Given the description of an element on the screen output the (x, y) to click on. 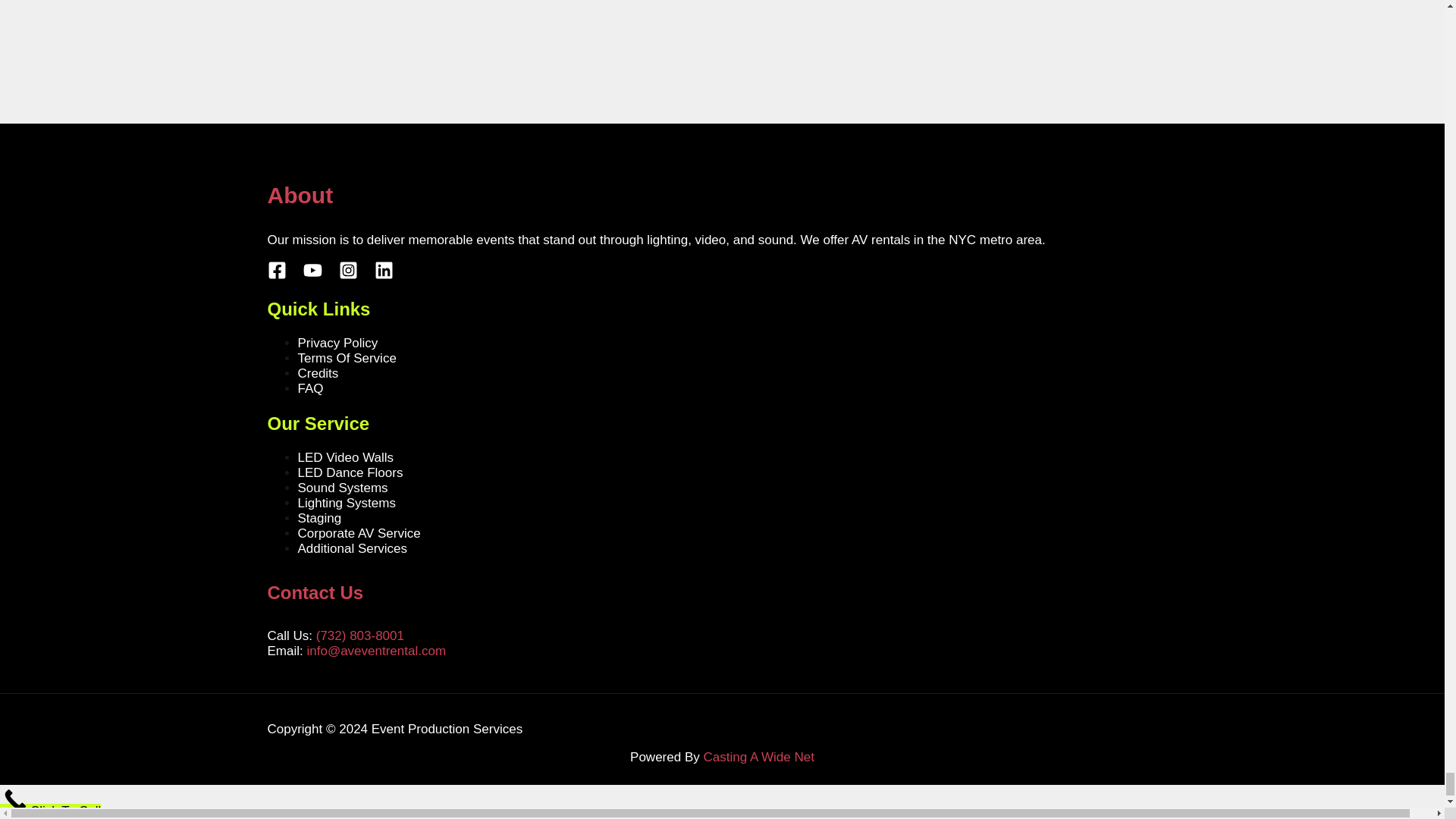
YouTube video player (424, 24)
